Given the description of an element on the screen output the (x, y) to click on. 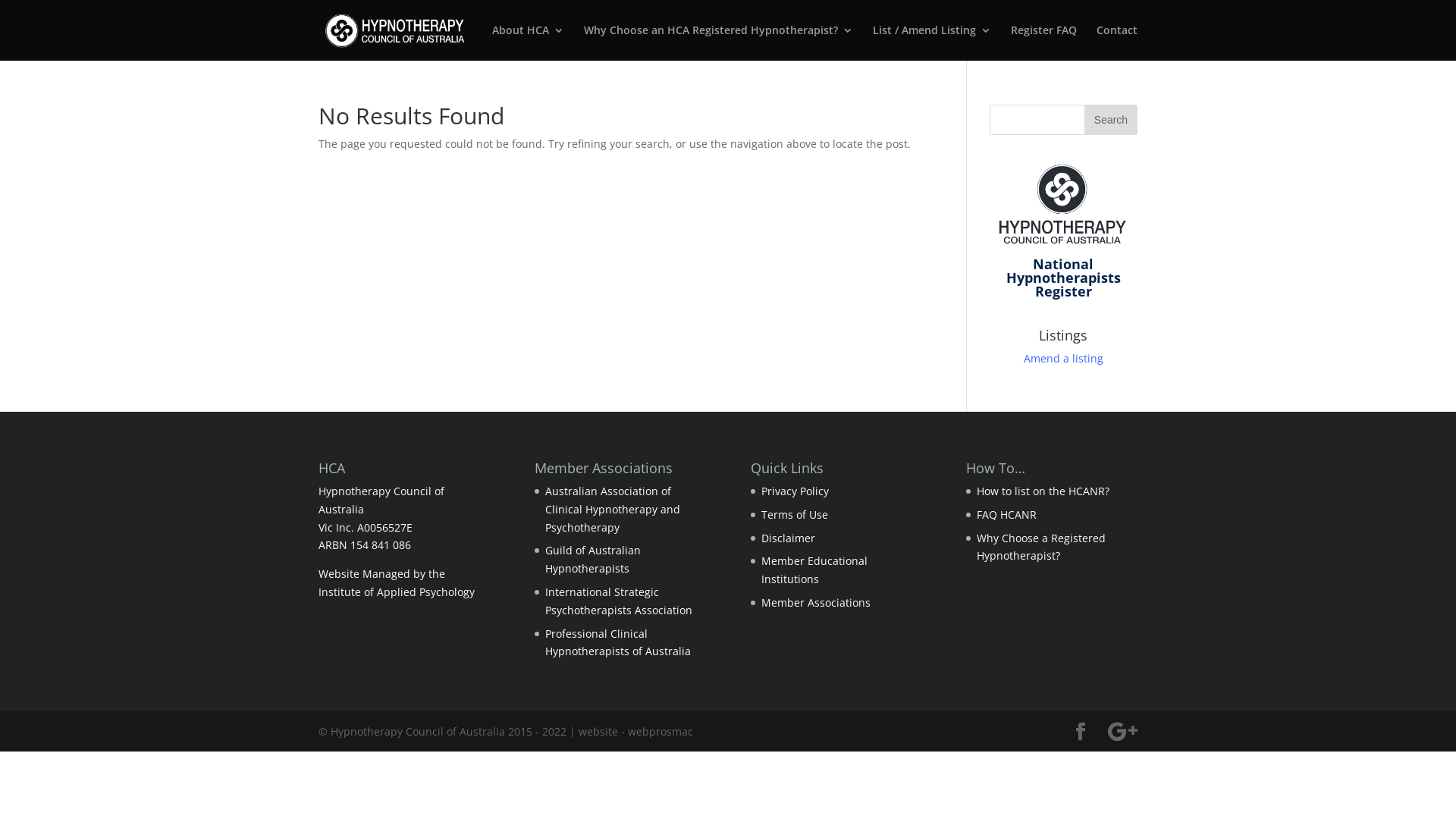
Amend a listing Element type: text (1063, 358)
List / Amend Listing Element type: text (931, 42)
Why Choose a Registered Hypnotherapist? Element type: text (1040, 546)
Register FAQ Element type: text (1043, 42)
Member Educational Institutions Element type: text (814, 569)
FAQ HCANR Element type: text (1006, 514)
Guild of Australian Hypnotherapists Element type: text (592, 558)
Professional Clinical Hypnotherapists of Australia Element type: text (617, 642)
Privacy Policy Element type: text (794, 490)
Disclaimer Element type: text (788, 537)
About HCA Element type: text (528, 42)
Contact Element type: text (1116, 42)
Search Element type: text (1110, 119)
Why Choose an HCA Registered Hypnotherapist? Element type: text (718, 42)
Website Managed by the Institute of Applied Psychology Element type: text (396, 582)
How to list on the HCANR? Element type: text (1042, 490)
Member Associations Element type: text (815, 602)
Terms of Use Element type: text (794, 514)
International Strategic Psychotherapists Association Element type: text (618, 600)
